Given the description of an element on the screen output the (x, y) to click on. 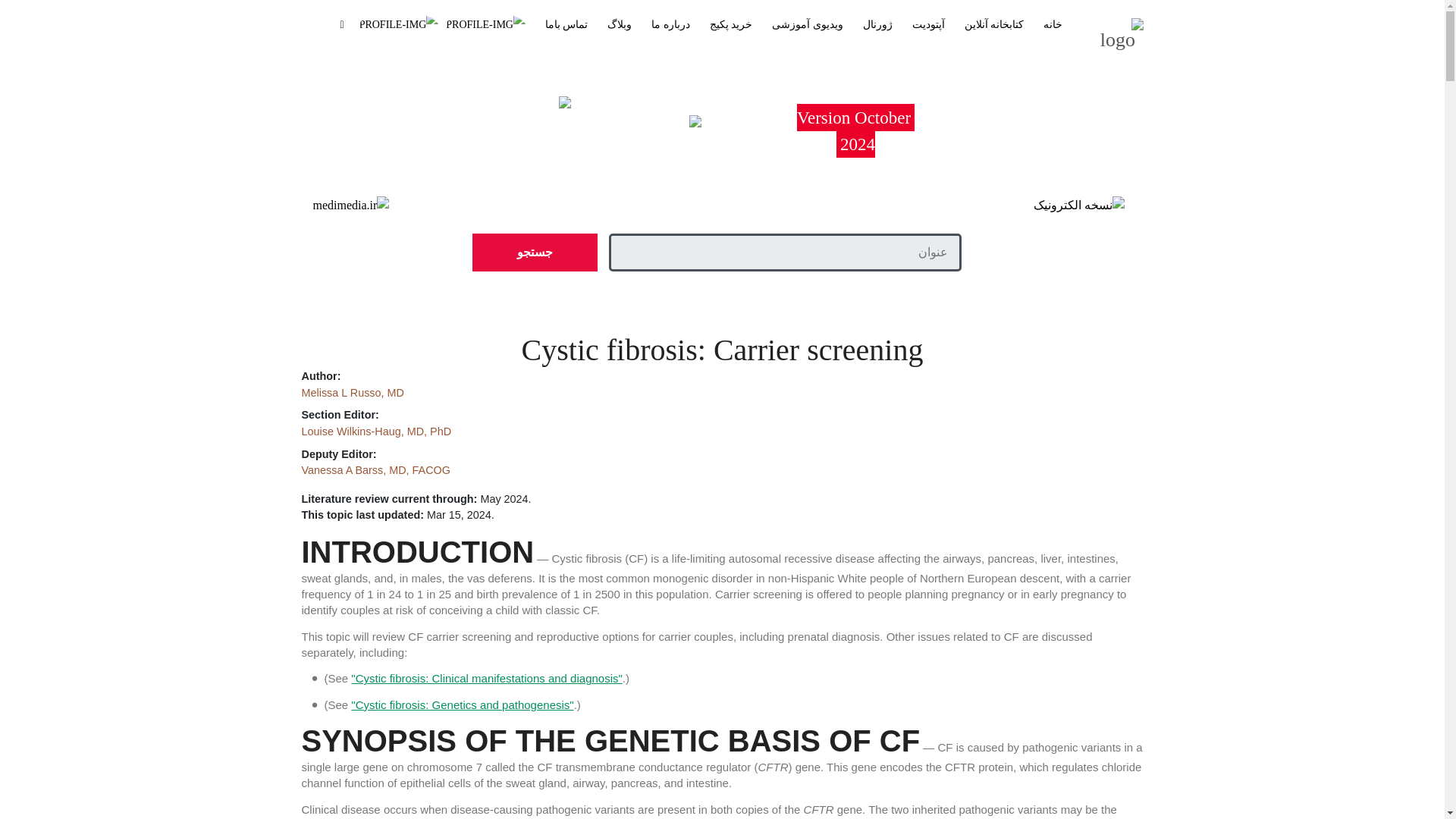
"Cystic fibrosis: Genetics and pathogenesis" (461, 704)
"Cystic fibrosis: Clinical manifestations and diagnosis" (485, 677)
Vanessa A Barss, MD, FACOG (375, 469)
Melissa L Russo, MD (352, 392)
Louise Wilkins-Haug, MD, PhD (376, 431)
